Given the description of an element on the screen output the (x, y) to click on. 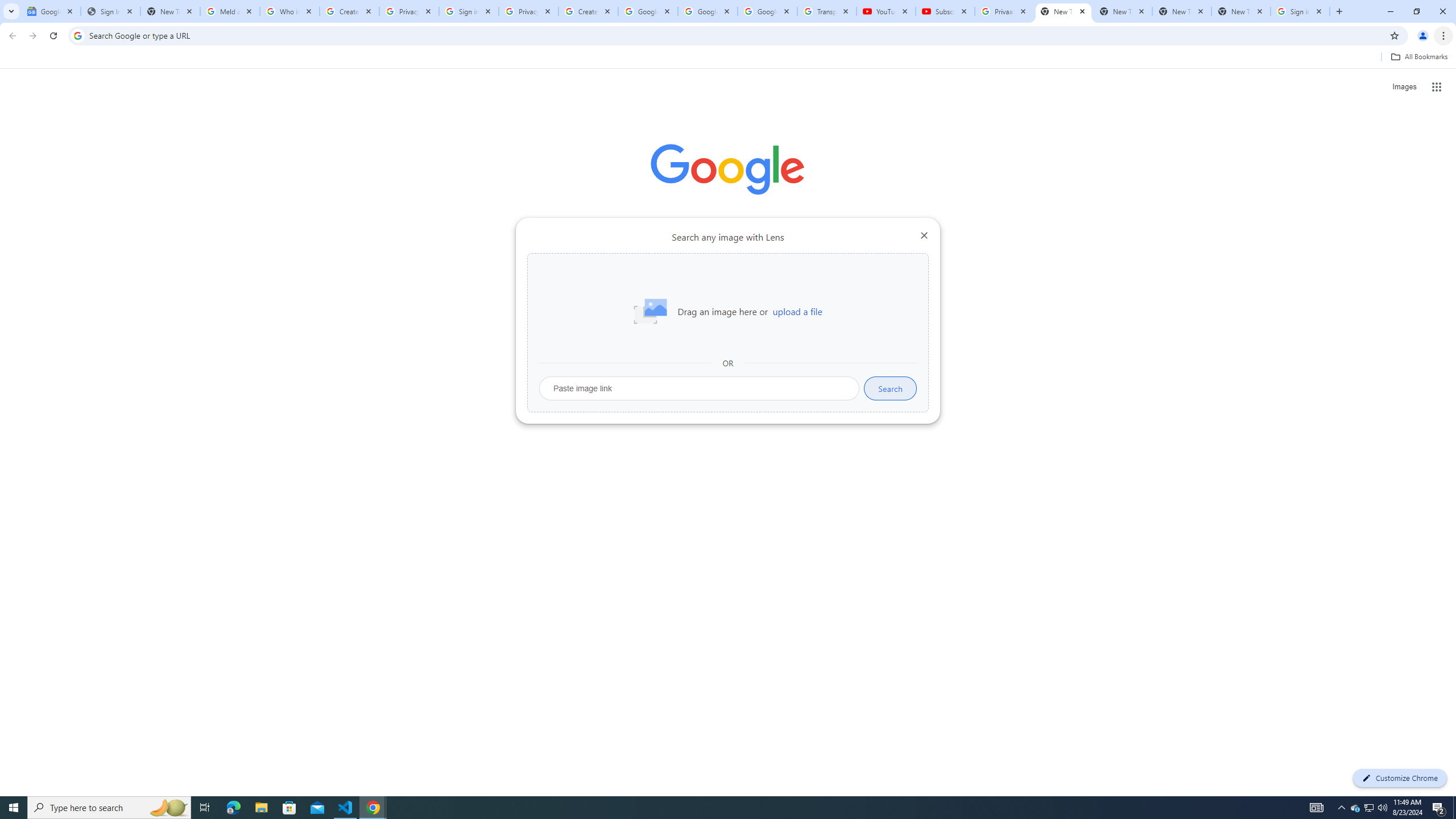
Sign In - USA TODAY (110, 11)
Google News (50, 11)
Who is my administrator? - Google Account Help (289, 11)
Paste image link (699, 388)
Chrome Web Store (663, 287)
